Given the description of an element on the screen output the (x, y) to click on. 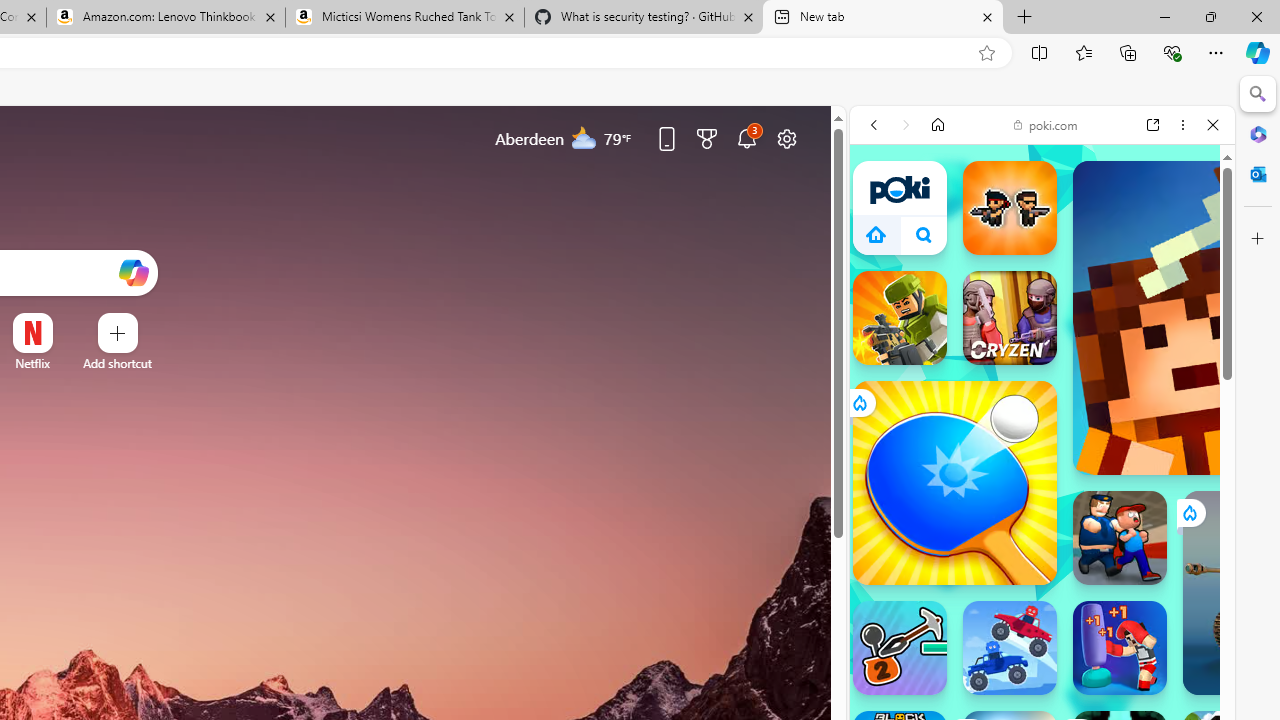
Stickman Climb 2 Stickman Climb 2 (899, 647)
Escape From School Escape From School (1119, 537)
Show More Car Games (1164, 506)
Shooting Games (1042, 552)
Ping Pong Go! (954, 482)
Page settings (786, 138)
Show More Shooting Games (1164, 555)
Netflix (32, 363)
More Options (64, 320)
